Given the description of an element on the screen output the (x, y) to click on. 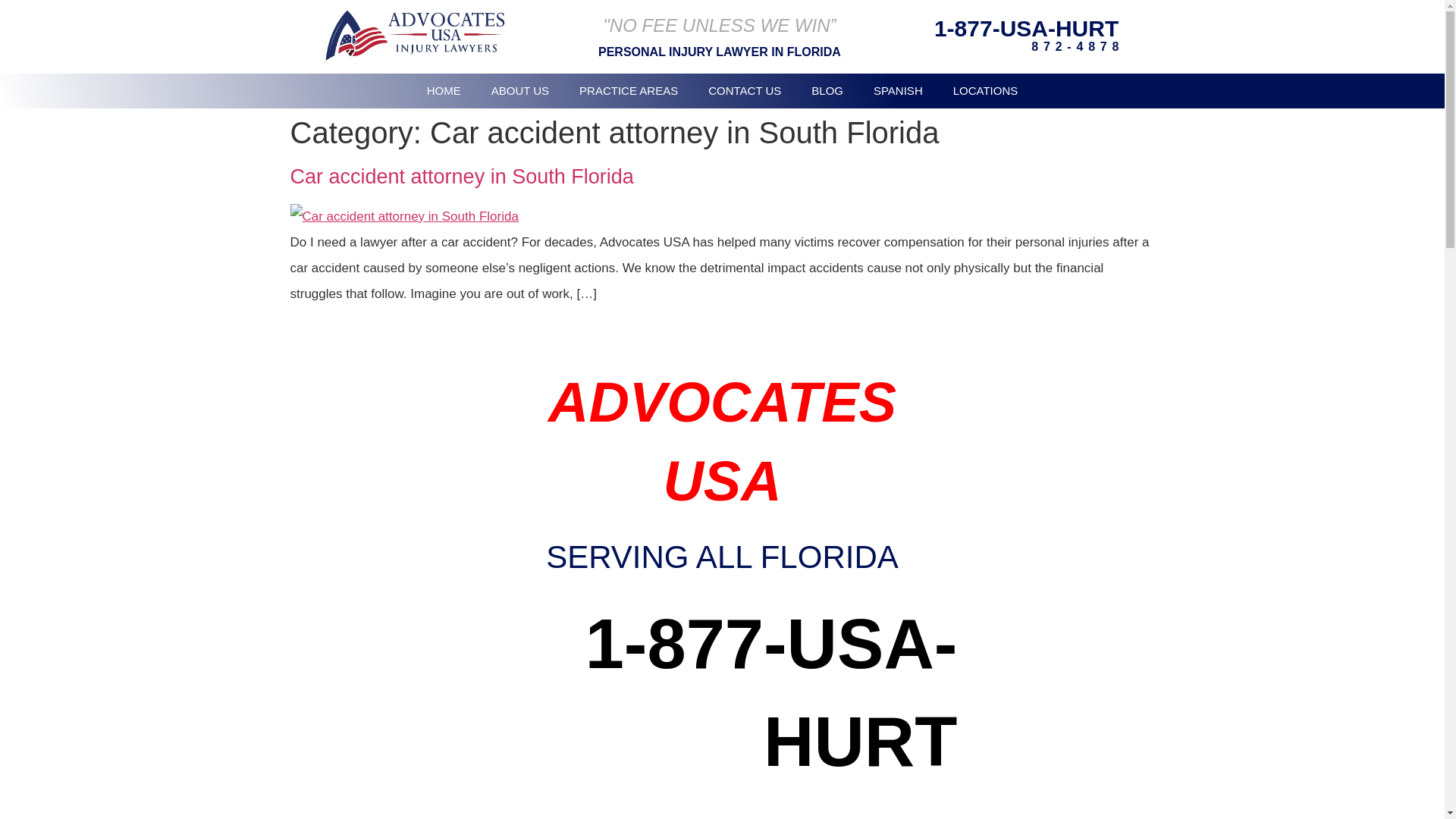
PRACTICE AREAS (628, 90)
HOME (444, 90)
SPANISH (898, 90)
CONTACT US (744, 90)
BLOG (827, 90)
LOCATIONS (985, 90)
ABOUT US (520, 90)
